Given the description of an element on the screen output the (x, y) to click on. 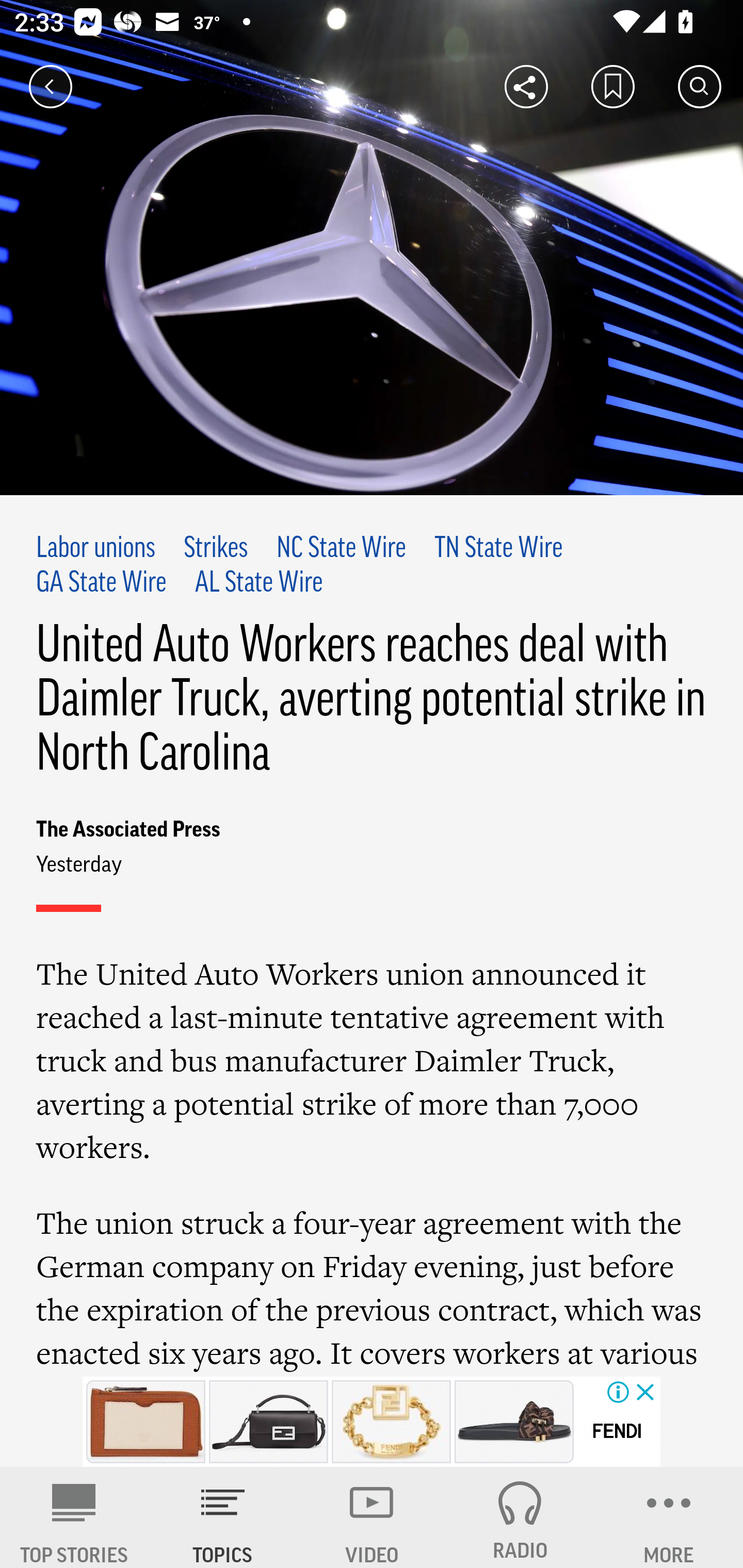
Labor unions (96, 549)
Strikes (215, 549)
NC State Wire (341, 549)
TN State Wire (498, 549)
GA State Wire (101, 584)
AL State Wire (258, 584)
fendi-feel-brown-satin-slides-8x8142ae7sf0r7v (513, 1420)
AP News TOP STORIES (74, 1517)
TOPICS (222, 1517)
VIDEO (371, 1517)
RADIO (519, 1517)
MORE (668, 1517)
